Given the description of an element on the screen output the (x, y) to click on. 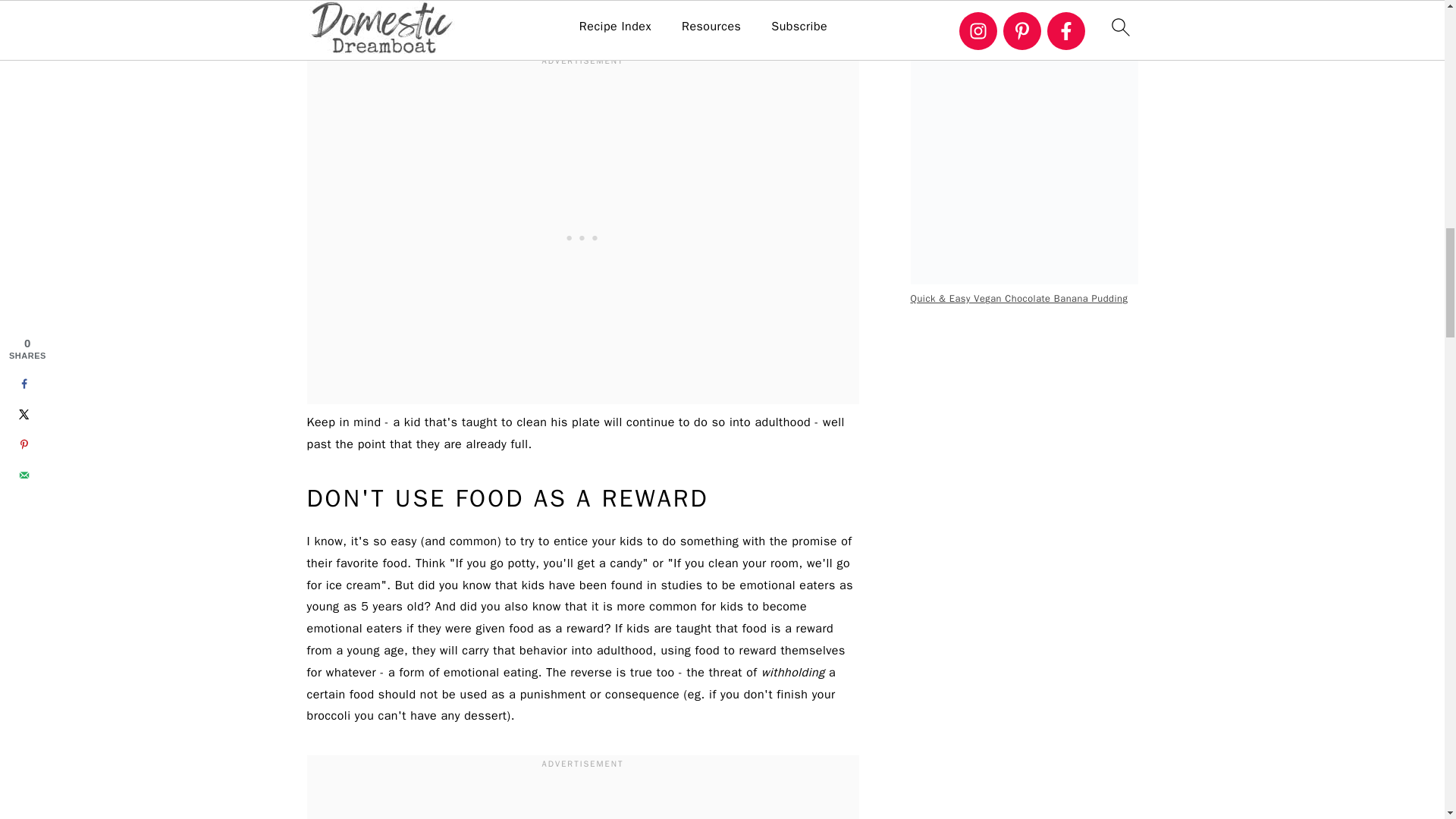
Cornflake Squares (1023, 14)
